Given the description of an element on the screen output the (x, y) to click on. 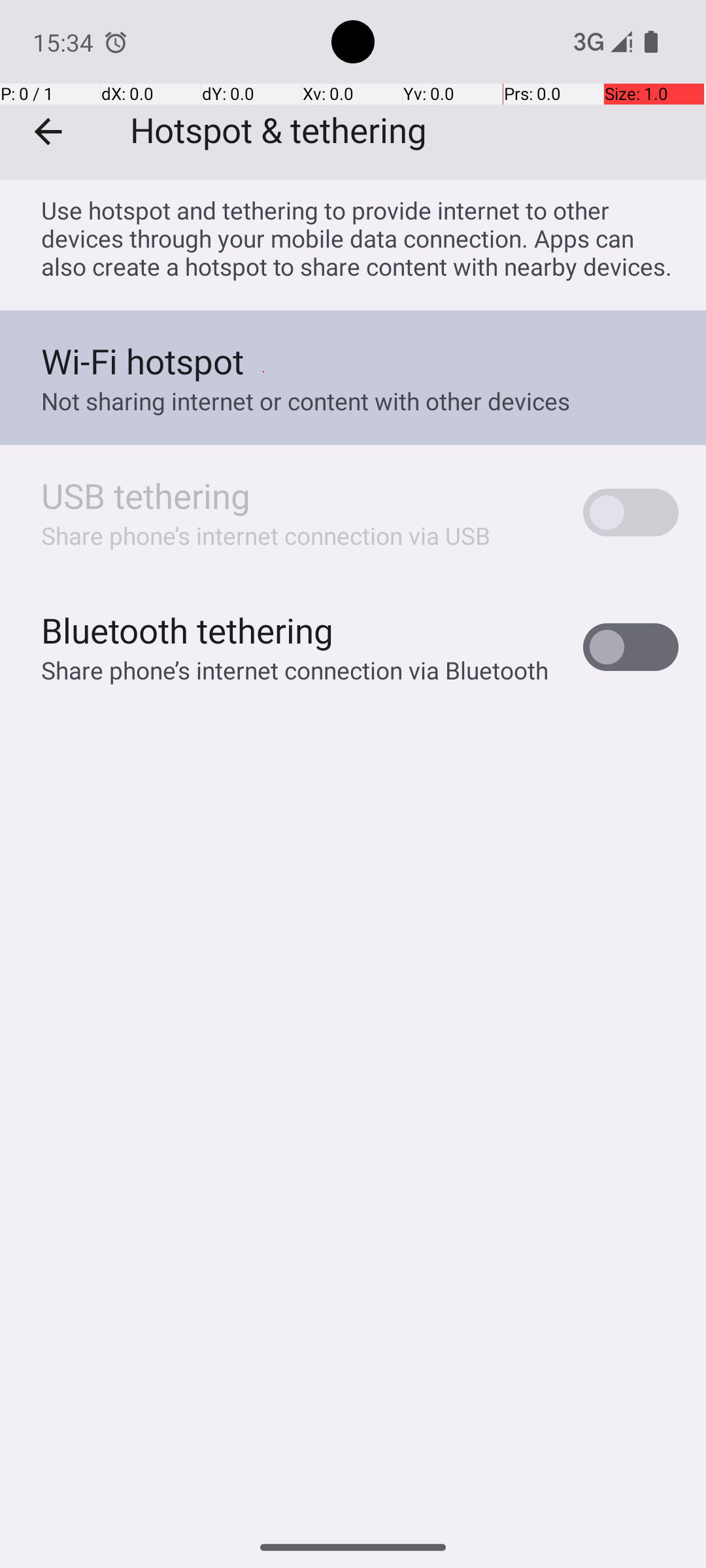
Use hotspot and tethering to provide internet to other devices through your mobile data connection. Apps can also create a hotspot to share content with nearby devices. Element type: android.widget.TextView (359, 237)
Wi‑Fi hotspot Element type: android.widget.TextView (142, 360)
Not sharing internet or content with other devices Element type: android.widget.TextView (305, 400)
USB tethering Element type: android.widget.TextView (145, 495)
Share phone’s internet connection via USB Element type: android.widget.TextView (265, 535)
Bluetooth tethering Element type: android.widget.TextView (187, 629)
Share phone’s internet connection via Bluetooth Element type: android.widget.TextView (294, 669)
